Given the description of an element on the screen output the (x, y) to click on. 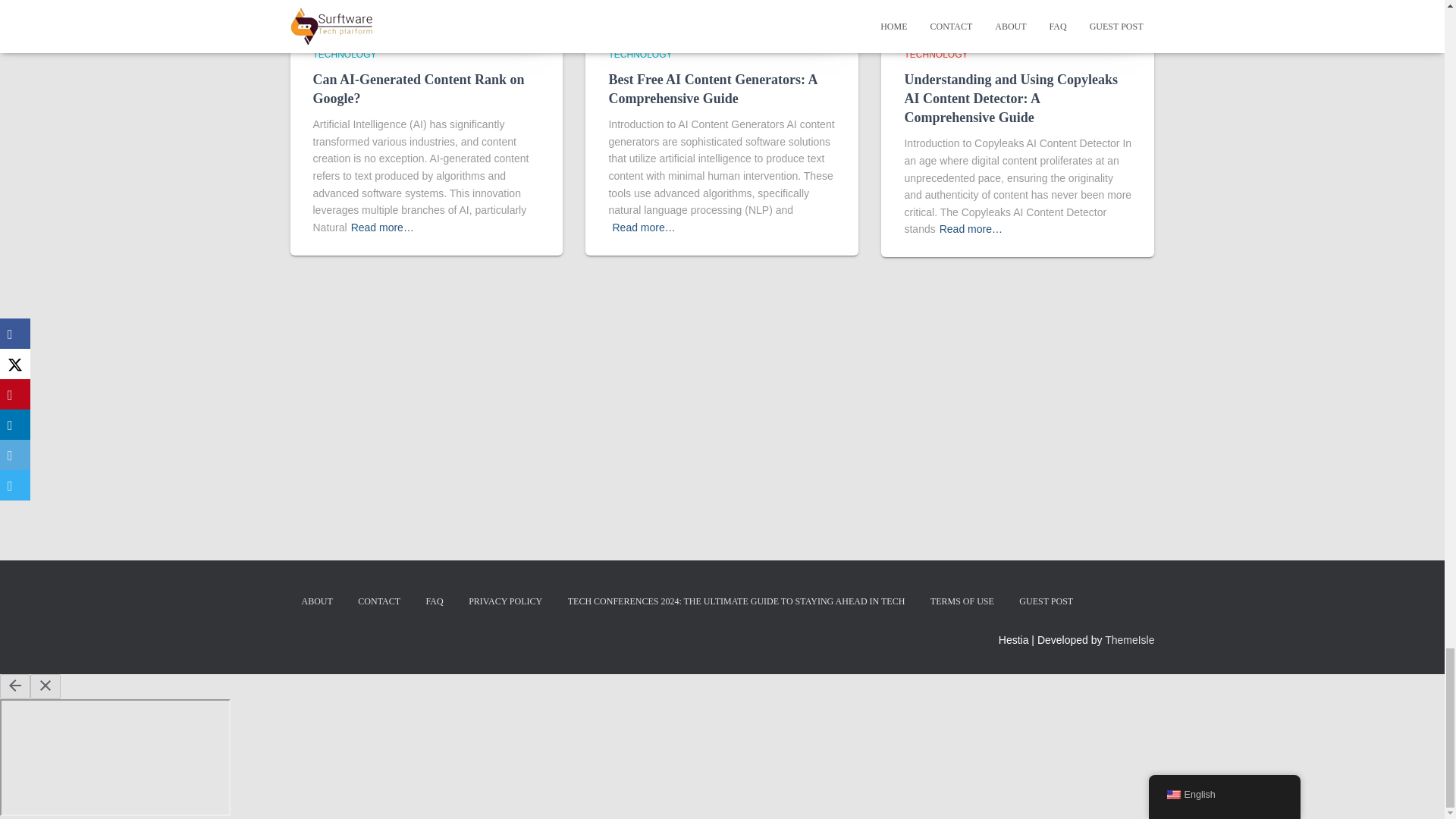
Can AI-Generated Content Rank on Google? (418, 89)
TECHNOLOGY (344, 54)
